Given the description of an element on the screen output the (x, y) to click on. 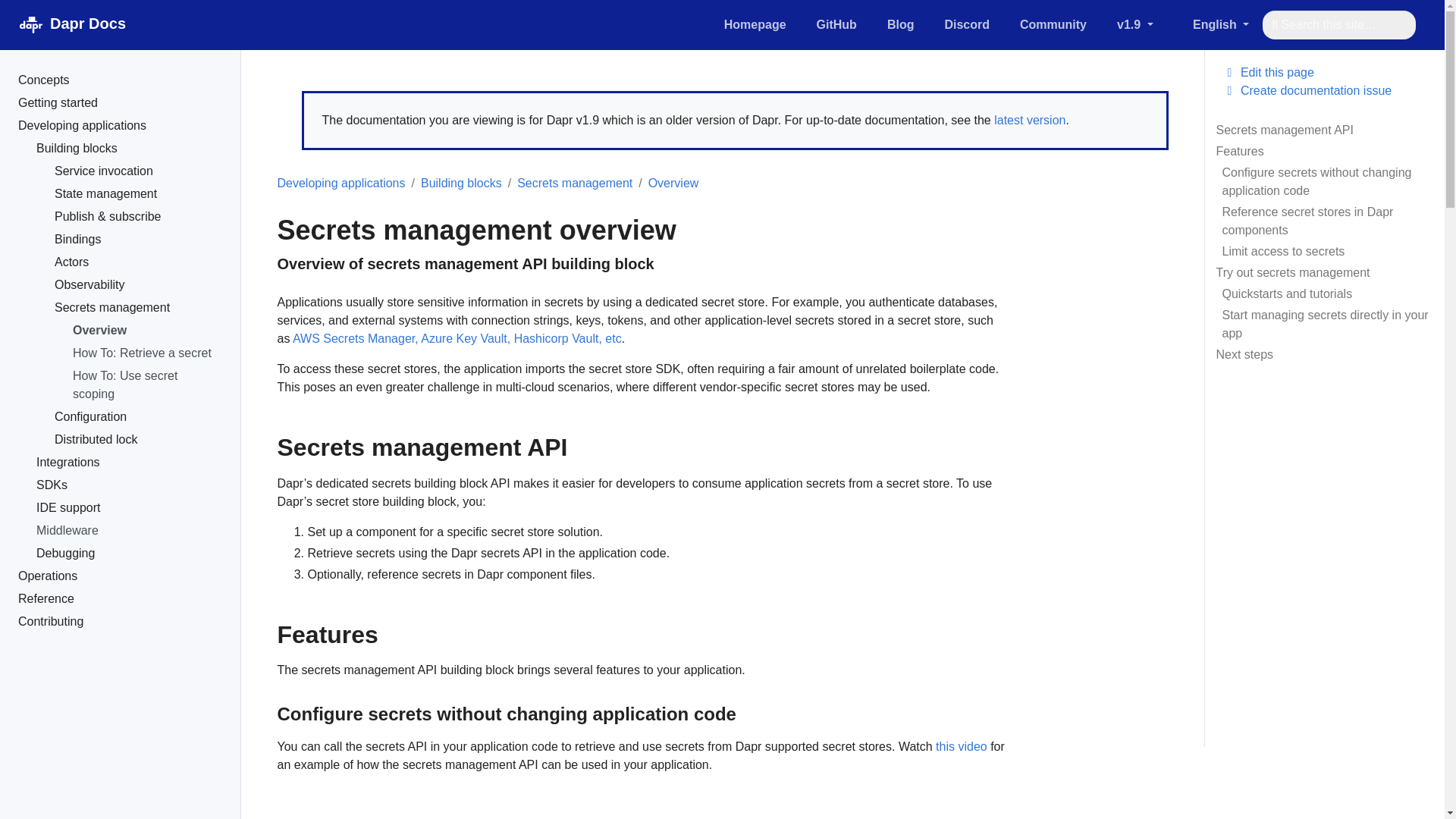
Getting started (119, 105)
Homepage (754, 24)
Blog (900, 24)
white on darkCreated with Sketch.Dapr Docs (68, 24)
Discord (966, 24)
GitHub (836, 24)
v1.9 (1148, 24)
white on darkCreated with Sketch. (31, 24)
Dapr concepts (989, 24)
Community (119, 82)
Concepts (1053, 24)
English (119, 82)
Getting started with Dapr (1224, 24)
